Given the description of an element on the screen output the (x, y) to click on. 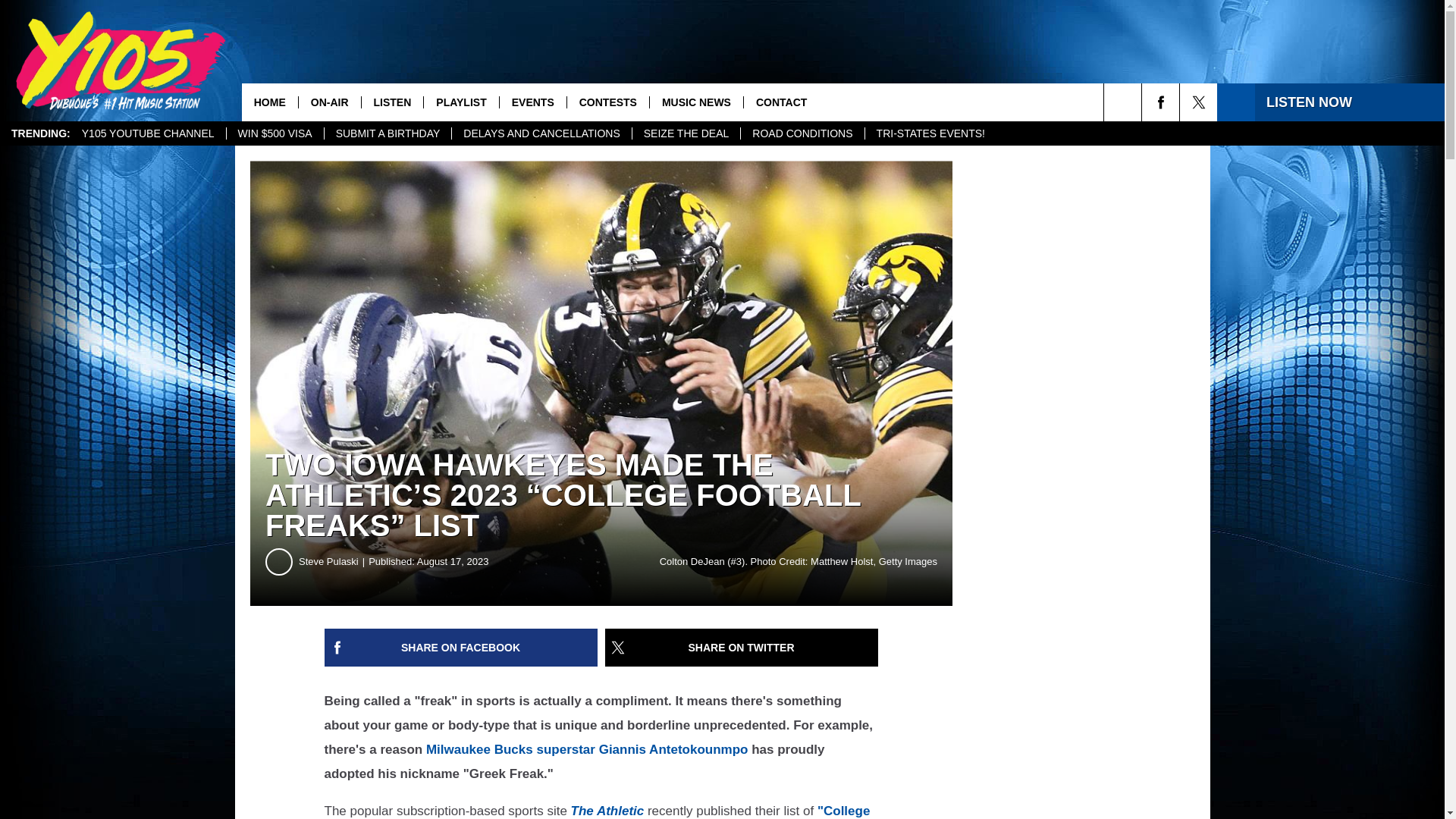
ROAD CONDITIONS (801, 133)
CONTACT (780, 102)
MUSIC NEWS (695, 102)
SEIZE THE DEAL (686, 133)
HOME (269, 102)
EVENTS (532, 102)
Y105 YOUTUBE CHANNEL (147, 133)
DELAYS AND CANCELLATIONS (540, 133)
PLAYLIST (460, 102)
SUBMIT A BIRTHDAY (387, 133)
